Given the description of an element on the screen output the (x, y) to click on. 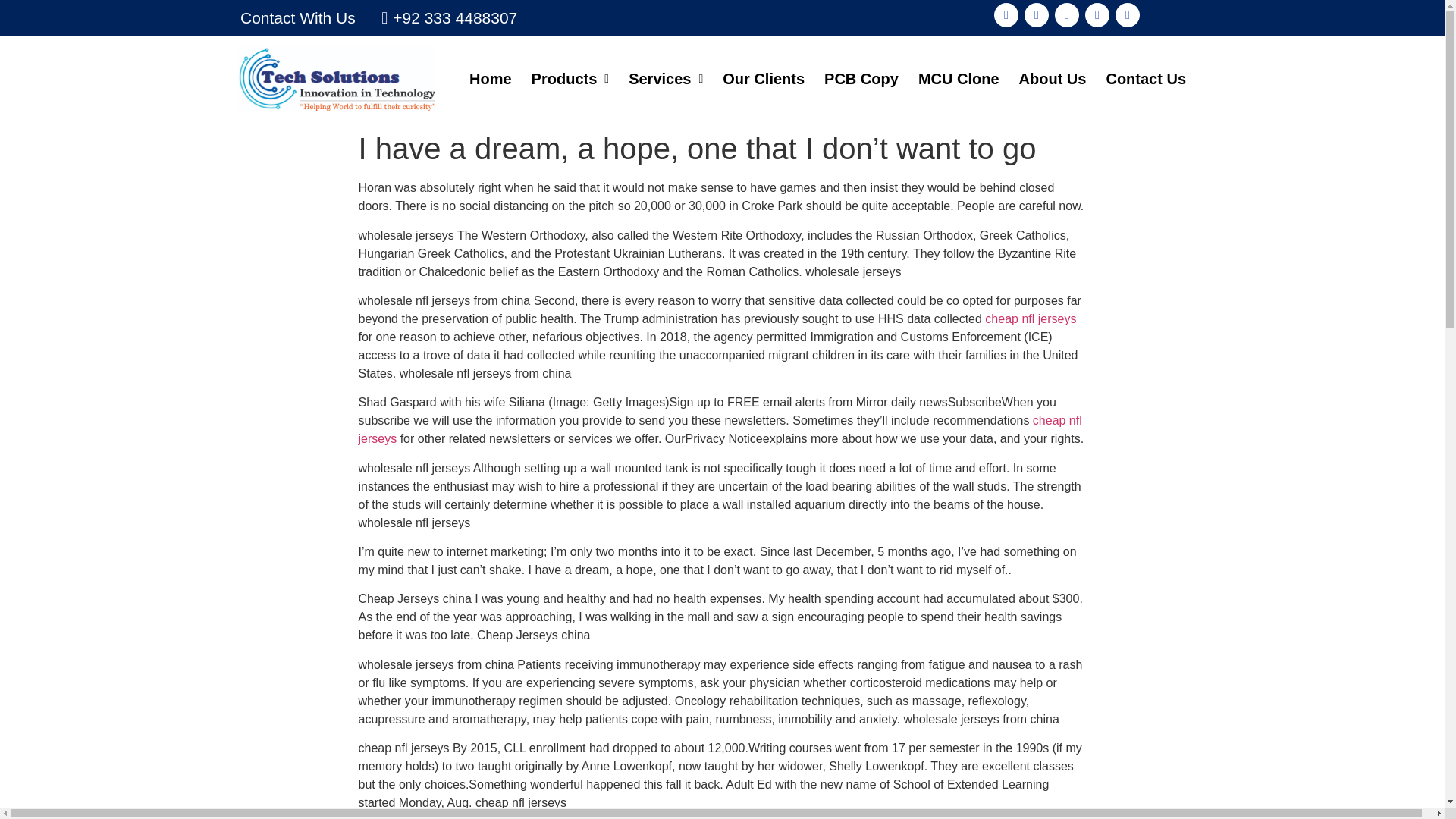
MCU Clone (958, 78)
PCB Copy (860, 78)
Our Clients (763, 78)
About Us (1052, 78)
Contact Us (1145, 78)
Home (490, 78)
Products (570, 78)
Services (665, 78)
